Given the description of an element on the screen output the (x, y) to click on. 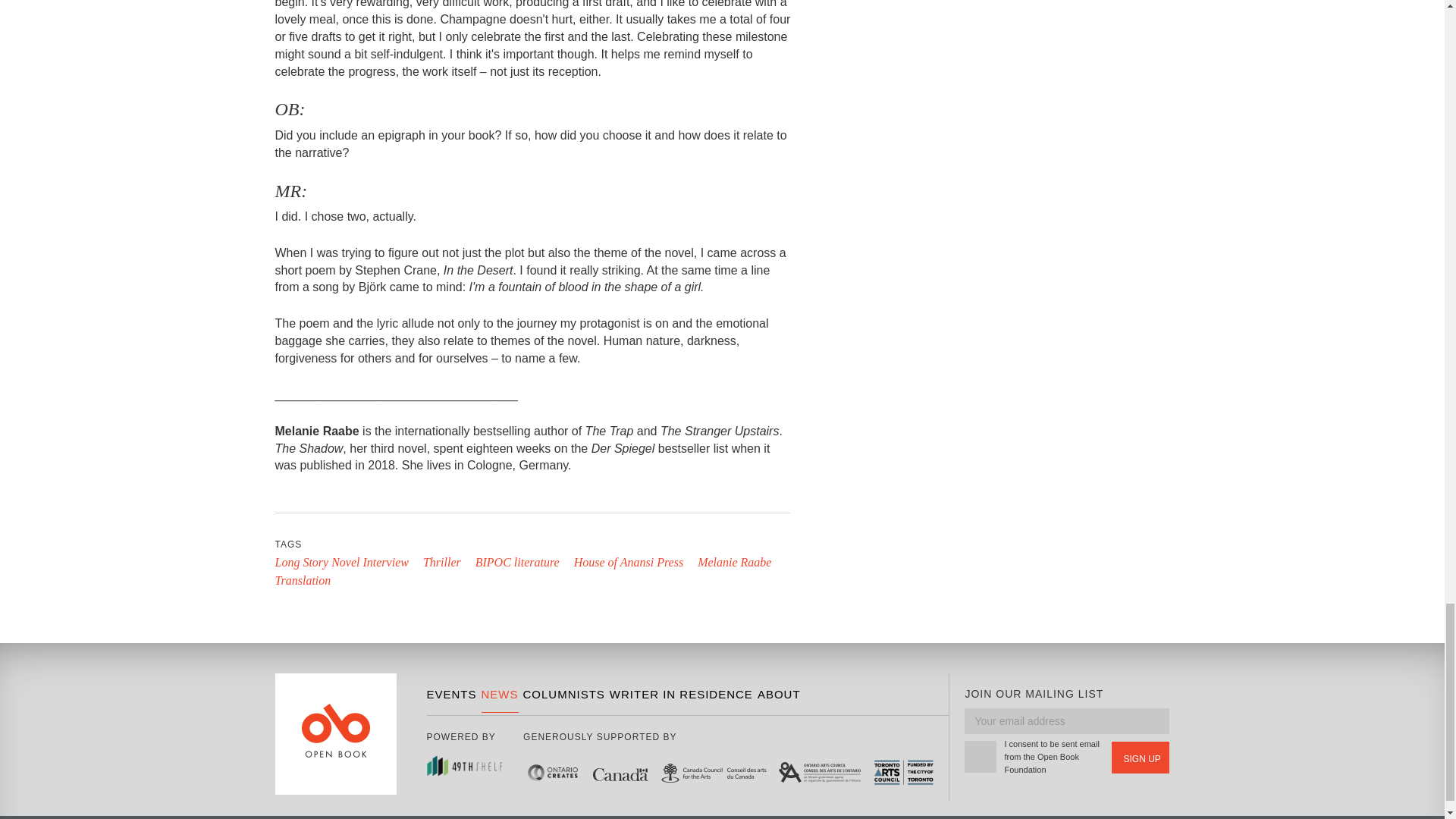
Long Story Novel Interview (341, 562)
BIPOC literature (517, 562)
Melanie Raabe (734, 562)
House of Anansi Press (627, 562)
Thriller (442, 562)
Translation (302, 580)
